Given the description of an element on the screen output the (x, y) to click on. 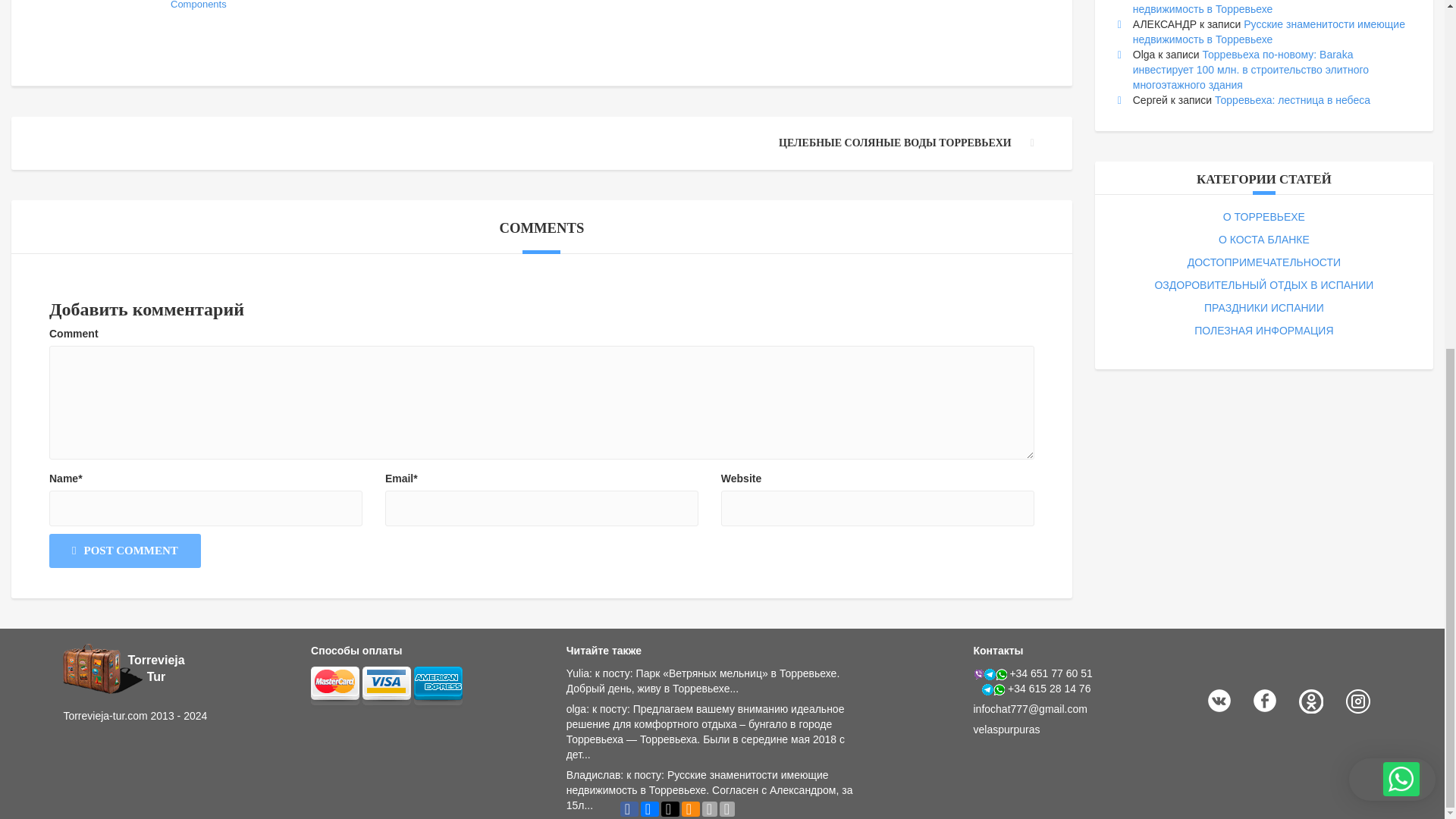
Smartsupp widget button (1392, 177)
Administrator Components (226, 7)
